Given the description of an element on the screen output the (x, y) to click on. 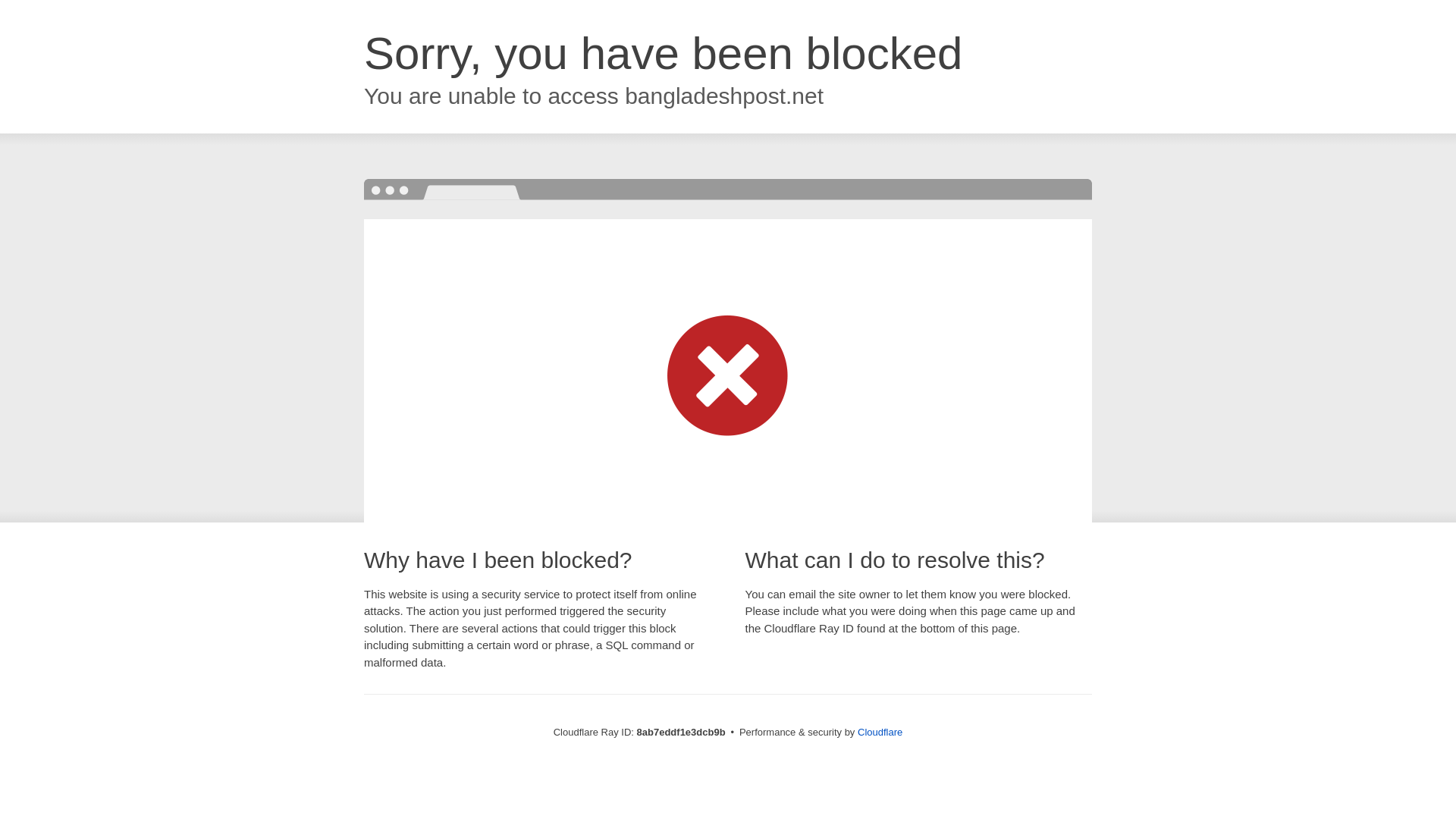
Cloudflare (879, 731)
